Given the description of an element on the screen output the (x, y) to click on. 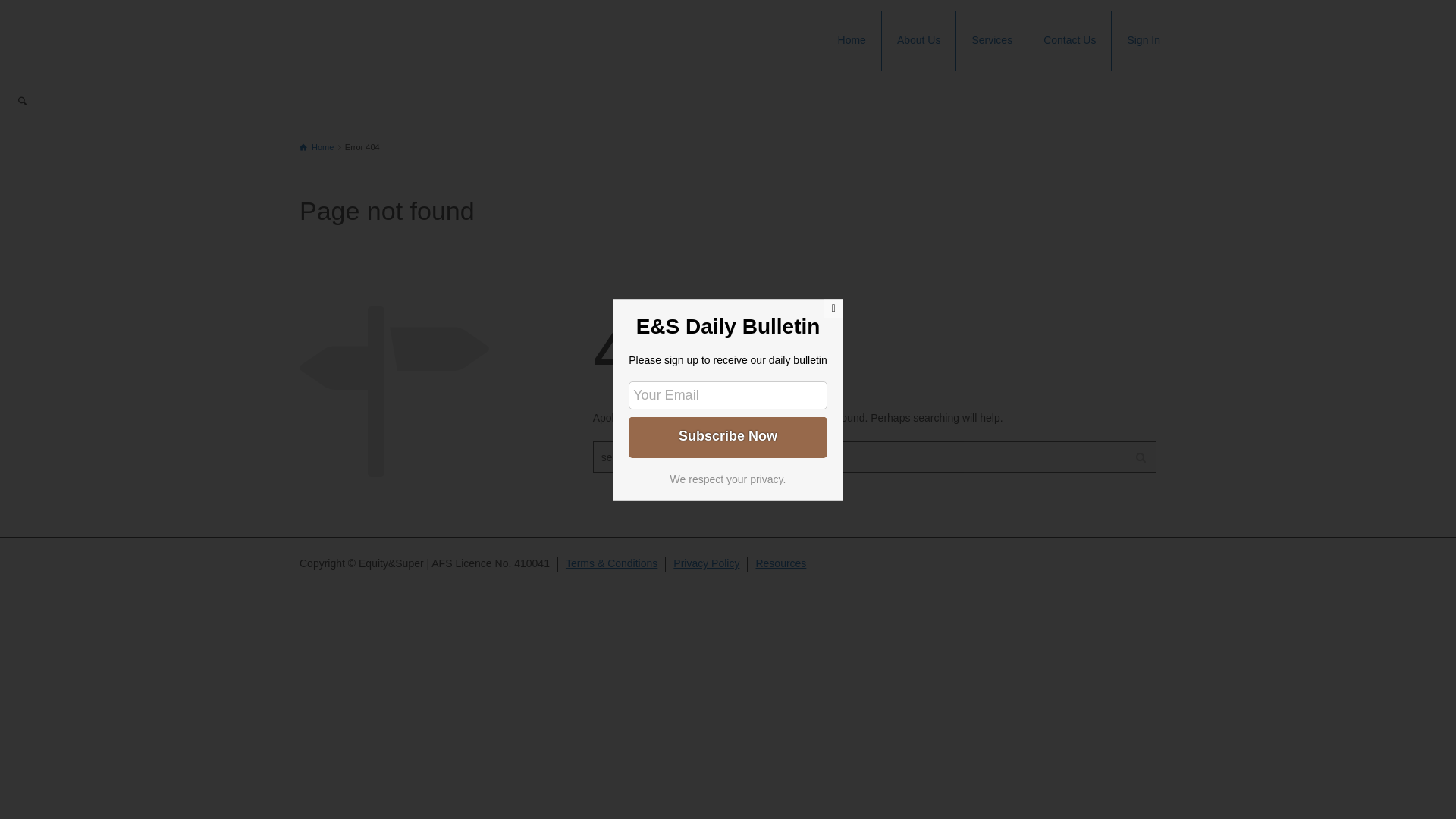
Equity&Super Element type: hover (399, 18)
Privacy Policy Element type: text (706, 563)
Home Element type: text (316, 146)
Home Element type: text (851, 40)
Sign In Element type: text (1143, 40)
Resources Element type: text (780, 563)
Terms & Conditions Element type: text (611, 563)
About Us Element type: text (919, 40)
Subscribe Now Element type: text (727, 436)
Services Element type: text (992, 40)
Contact Us Element type: text (1069, 40)
Search Element type: hover (22, 101)
